Given the description of an element on the screen output the (x, y) to click on. 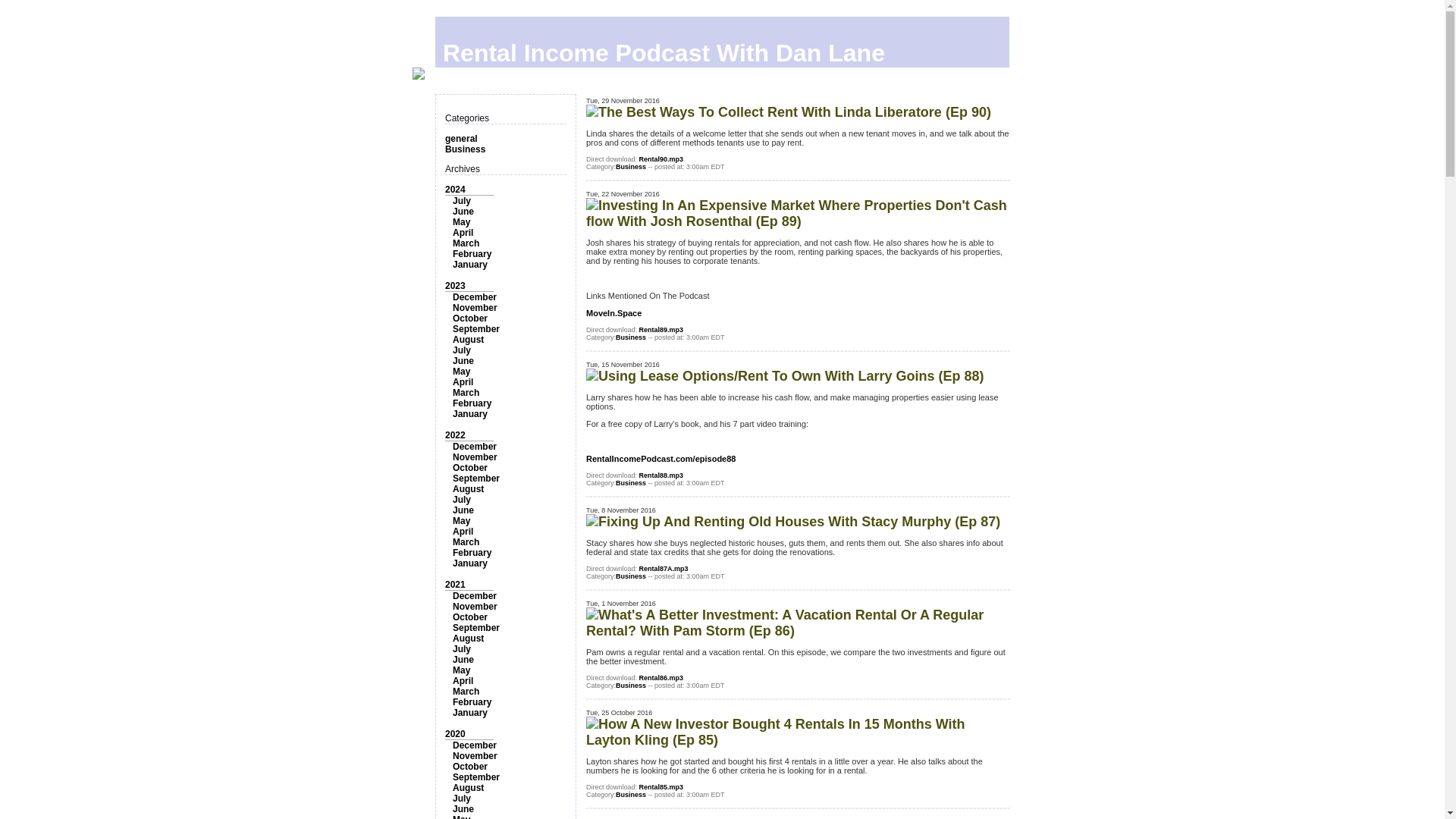
December (474, 296)
August (467, 339)
January (469, 562)
July (461, 349)
September (475, 478)
March (465, 542)
October (469, 616)
general (461, 138)
July (461, 200)
March (465, 243)
2021 (455, 584)
2023 (455, 285)
August (467, 489)
October (469, 467)
January (469, 413)
